Given the description of an element on the screen output the (x, y) to click on. 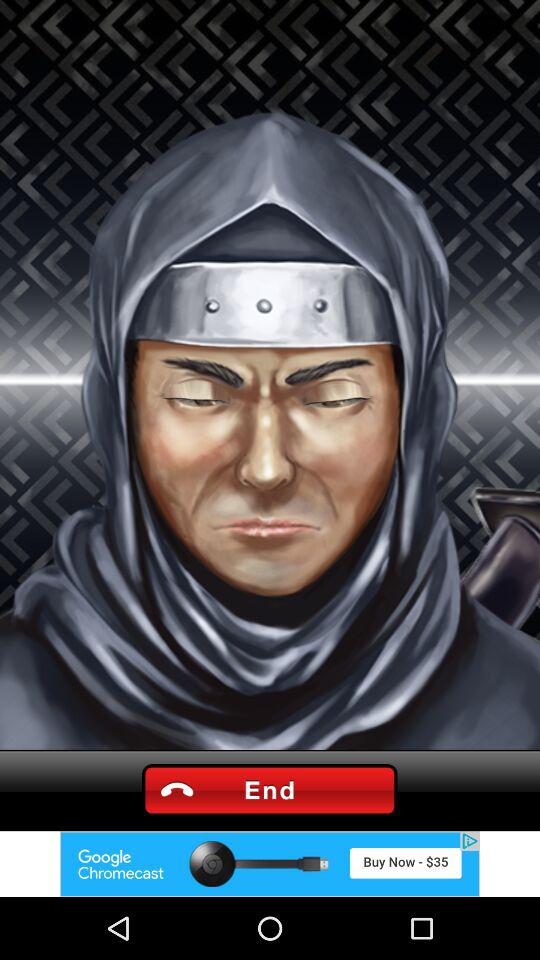
end call (269, 790)
